Given the description of an element on the screen output the (x, y) to click on. 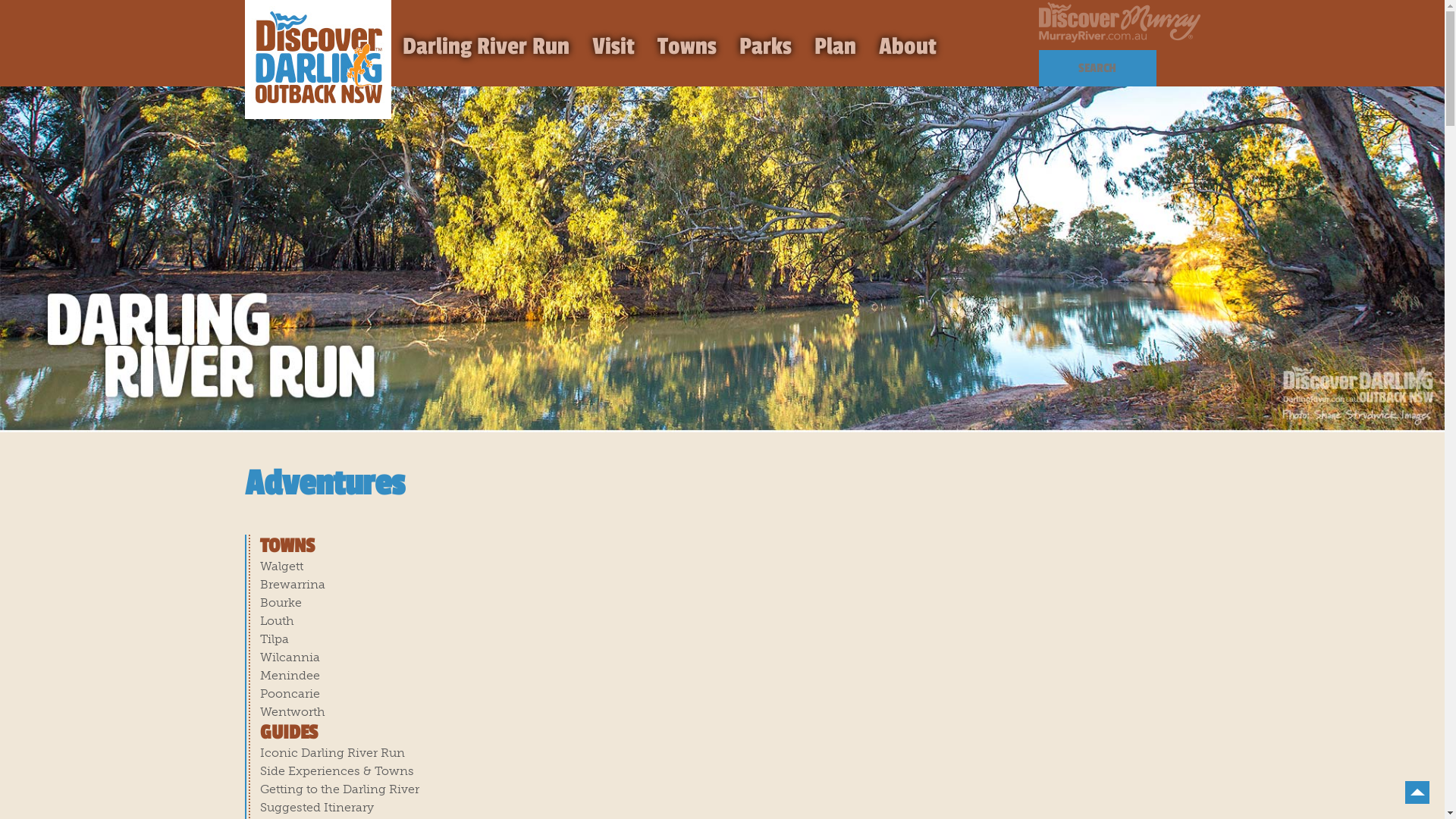
Suggested Itinerary Element type: text (316, 807)
Menindee Element type: text (289, 675)
Getting to the Darling River Element type: text (338, 788)
Wilcannia Element type: text (289, 656)
Walgett Element type: text (280, 565)
Tilpa Element type: text (273, 638)
Bourke Element type: text (280, 602)
Pooncarie Element type: text (289, 693)
Wentworth Element type: text (291, 711)
Towns Element type: text (687, 46)
Parks Element type: text (765, 46)
Brewarrina Element type: text (291, 584)
About Element type: text (907, 46)
Darling River Run Element type: text (485, 46)
Visit Element type: text (613, 46)
Iconic Darling River Run Element type: text (331, 752)
Side Experiences & Towns Element type: text (336, 770)
Plan Element type: text (834, 46)
Louth Element type: text (276, 620)
